Given the description of an element on the screen output the (x, y) to click on. 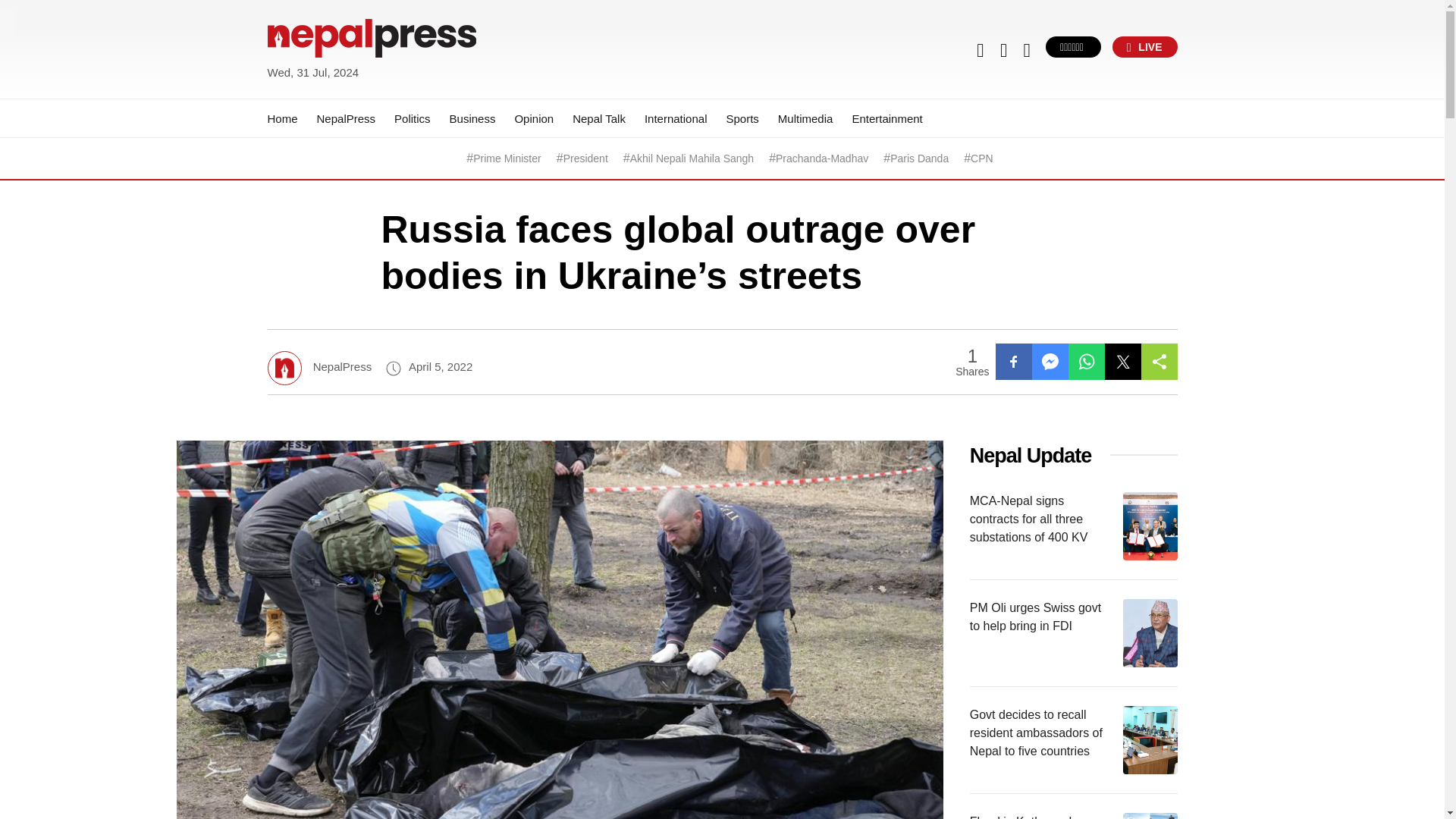
CPN (981, 158)
President (585, 158)
Akhil Nepali Mahila Sangh (692, 158)
Entertainment (886, 118)
Paris Danda (919, 158)
Prime Minister (506, 158)
Prachanda-Madhav (821, 158)
Paris Danda (919, 158)
Nepal Press (303, 91)
CPN (981, 158)
International (676, 118)
Politics (412, 118)
LIVE (1144, 46)
President (585, 158)
Business (472, 118)
